Given the description of an element on the screen output the (x, y) to click on. 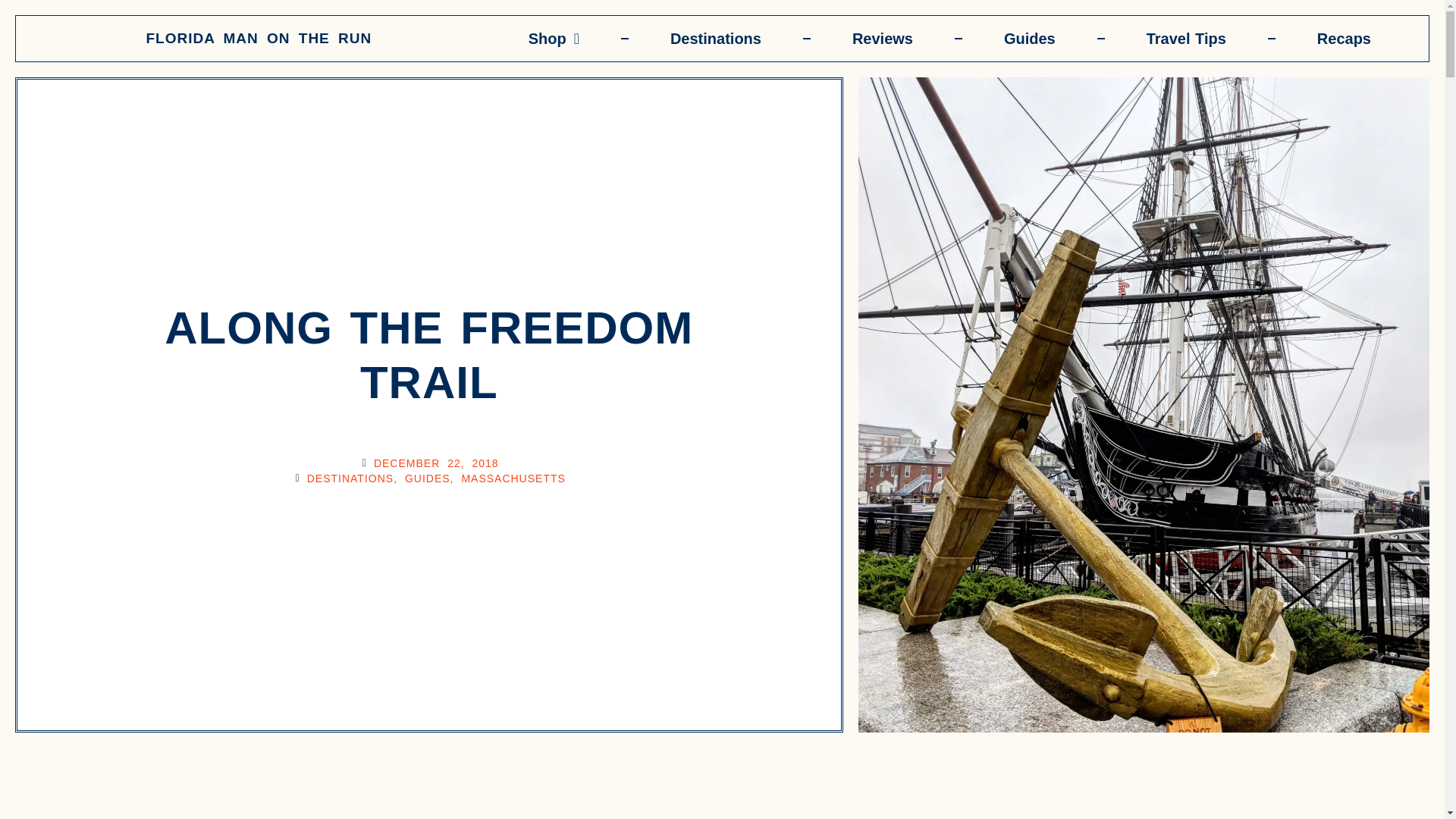
FLORIDA MAN ON THE RUN (258, 37)
Reviews (882, 38)
Travel Tips (1186, 38)
Recaps (1343, 38)
Guides (1029, 38)
Shop (553, 38)
Destinations (715, 38)
